Given the description of an element on the screen output the (x, y) to click on. 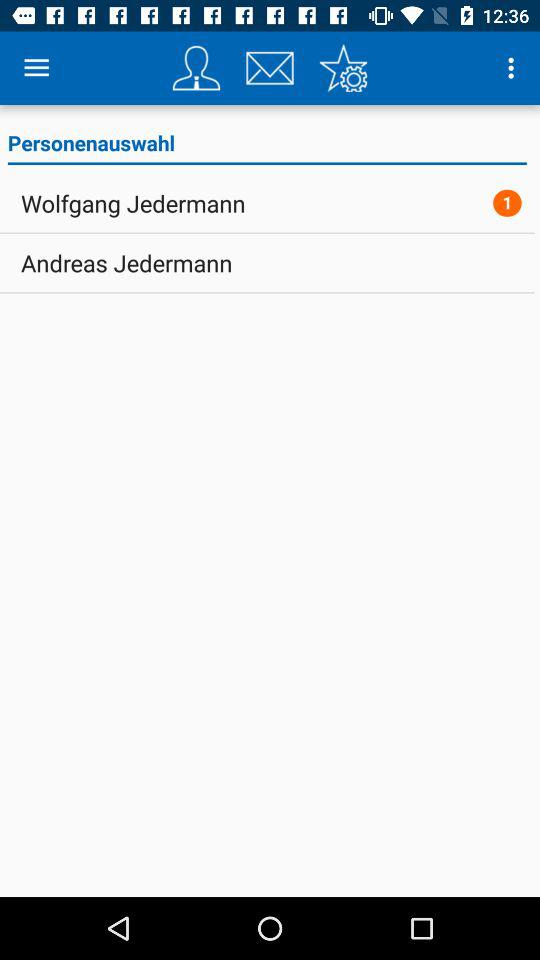
tap icon next to wolfgang jedermann item (507, 202)
